Given the description of an element on the screen output the (x, y) to click on. 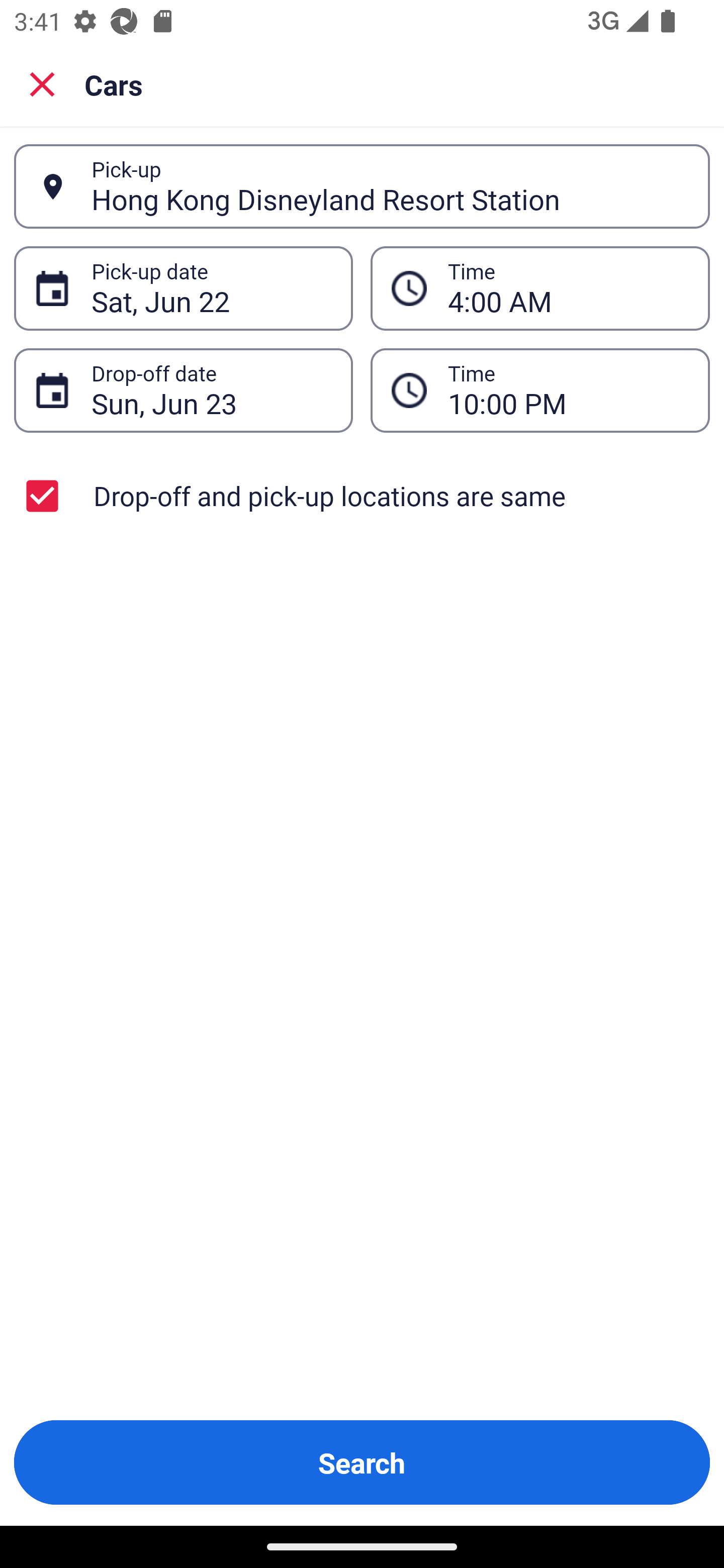
Close search screen (41, 83)
Hong Kong Disneyland Resort Station Pick-up (361, 186)
Hong Kong Disneyland Resort Station (389, 186)
Sat, Jun 22 Pick-up date (183, 288)
4:00 AM (540, 288)
Sat, Jun 22 (211, 288)
4:00 AM (568, 288)
Sun, Jun 23 Drop-off date (183, 390)
10:00 PM (540, 390)
Sun, Jun 23 (211, 390)
10:00 PM (568, 390)
Drop-off and pick-up locations are same (361, 495)
Search Button Search (361, 1462)
